Given the description of an element on the screen output the (x, y) to click on. 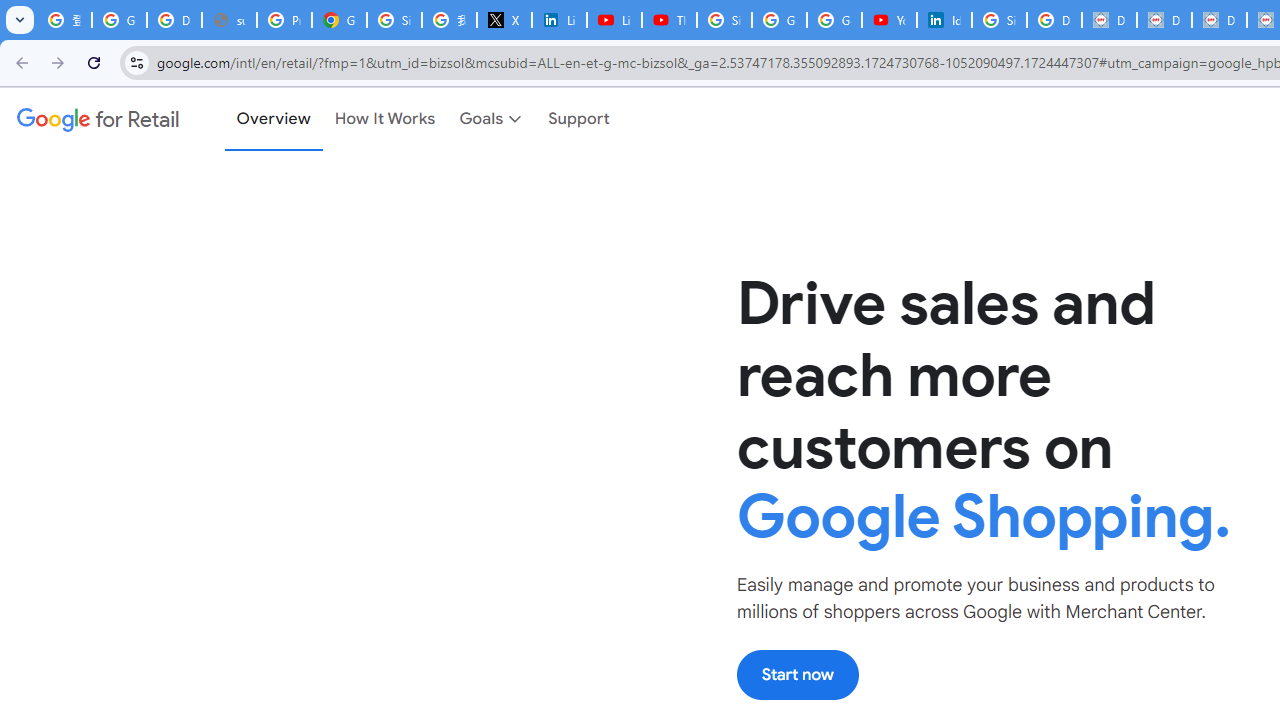
Sign in - Google Accounts (724, 20)
Data Privacy Framework (1108, 20)
How It Works (385, 119)
Google for Retail (98, 119)
support.google.com - Network error (229, 20)
Goals (491, 119)
Sign in - Google Accounts (394, 20)
